Given the description of an element on the screen output the (x, y) to click on. 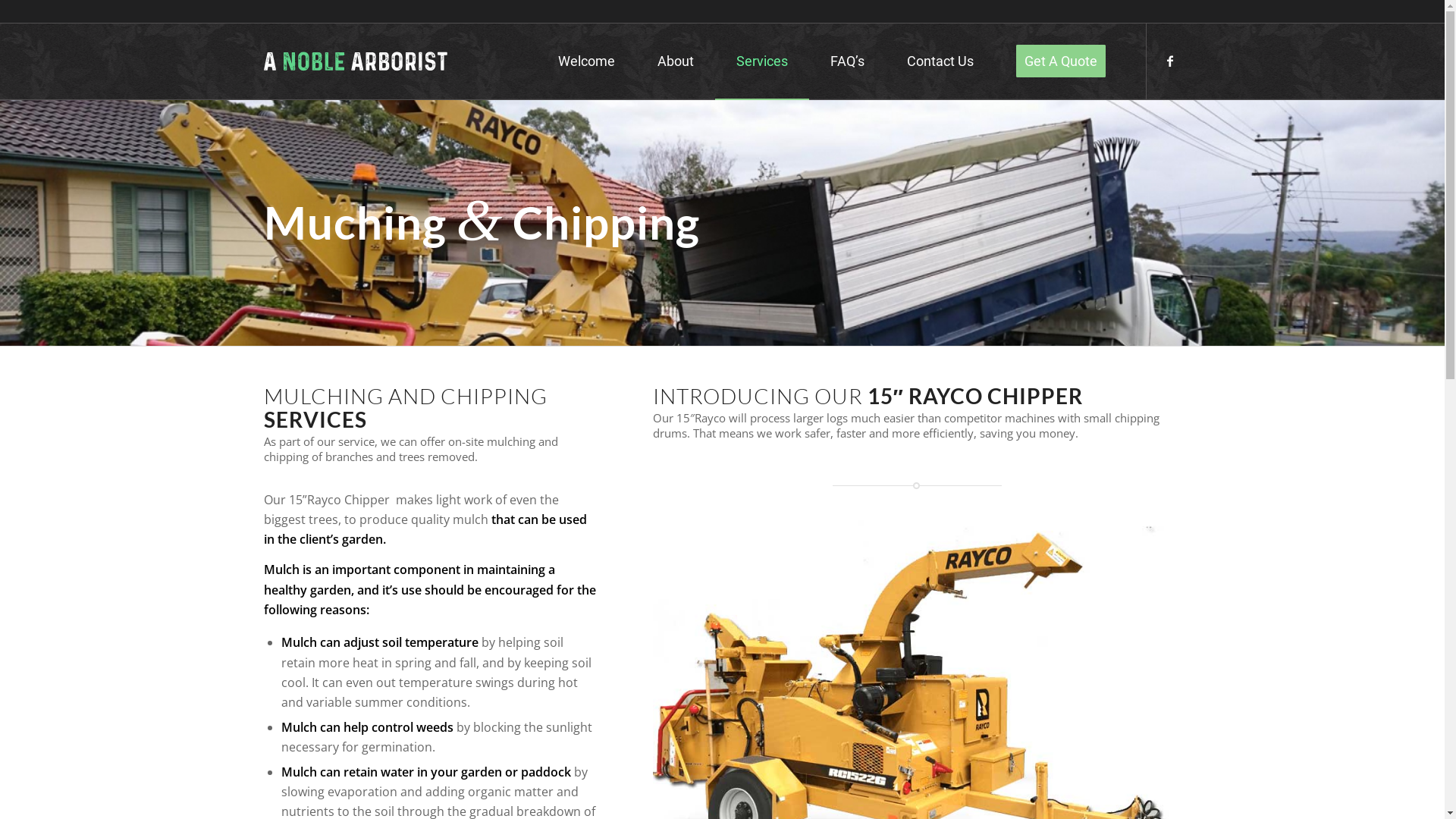
Facebook Element type: hover (1169, 60)
Welcome Element type: text (586, 61)
Contact Us Element type: text (939, 61)
Get A Quote Element type: text (1060, 61)
Services Element type: text (761, 61)
About Element type: text (674, 61)
